Given the description of an element on the screen output the (x, y) to click on. 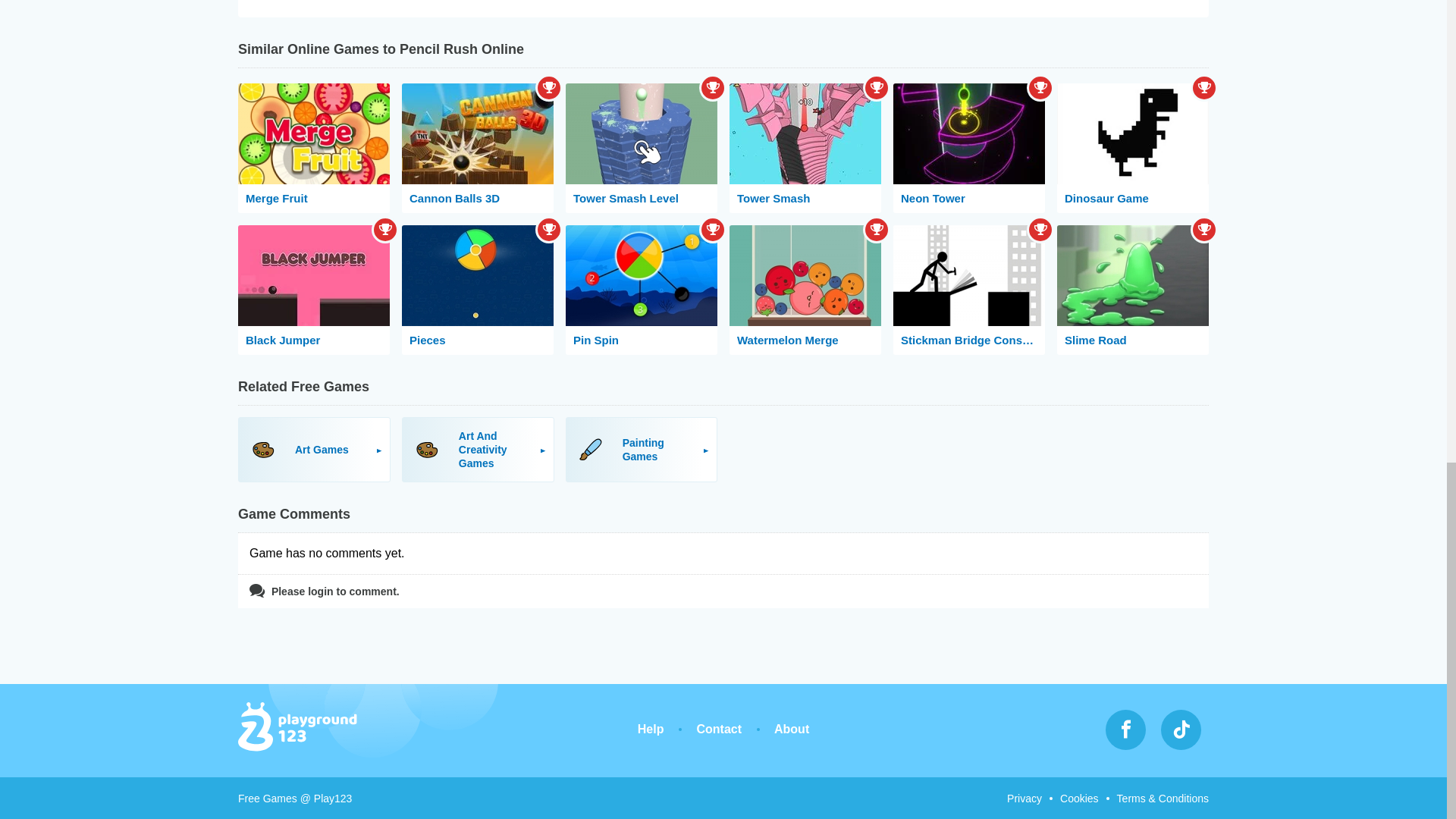
Watermelon Merge (804, 289)
Cannon Balls 3D (477, 147)
Tower Smash (804, 147)
Dinosaur Game (1132, 147)
TikTok (1180, 730)
Pieces (477, 289)
Painting Games (641, 449)
Merge Fruit (314, 147)
Art Games (314, 449)
Facebook (1125, 730)
Pin Spin (641, 289)
Black Jumper (314, 289)
Neon Tower (969, 147)
Tower Smash Level (641, 147)
Art And Creativity Games (477, 449)
